Given the description of an element on the screen output the (x, y) to click on. 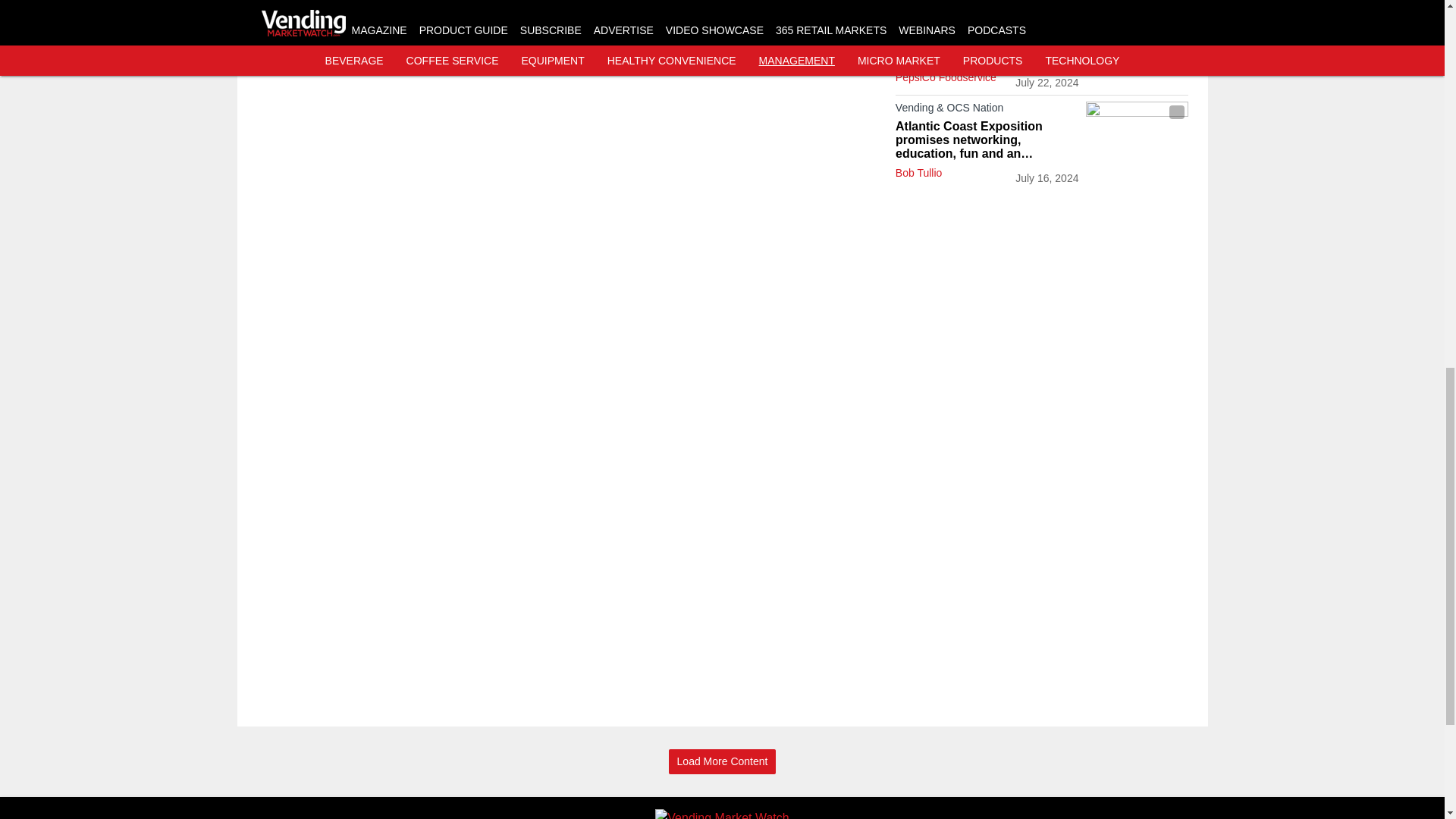
PepsiCo Foodservice (945, 77)
Management (986, 14)
